Given the description of an element on the screen output the (x, y) to click on. 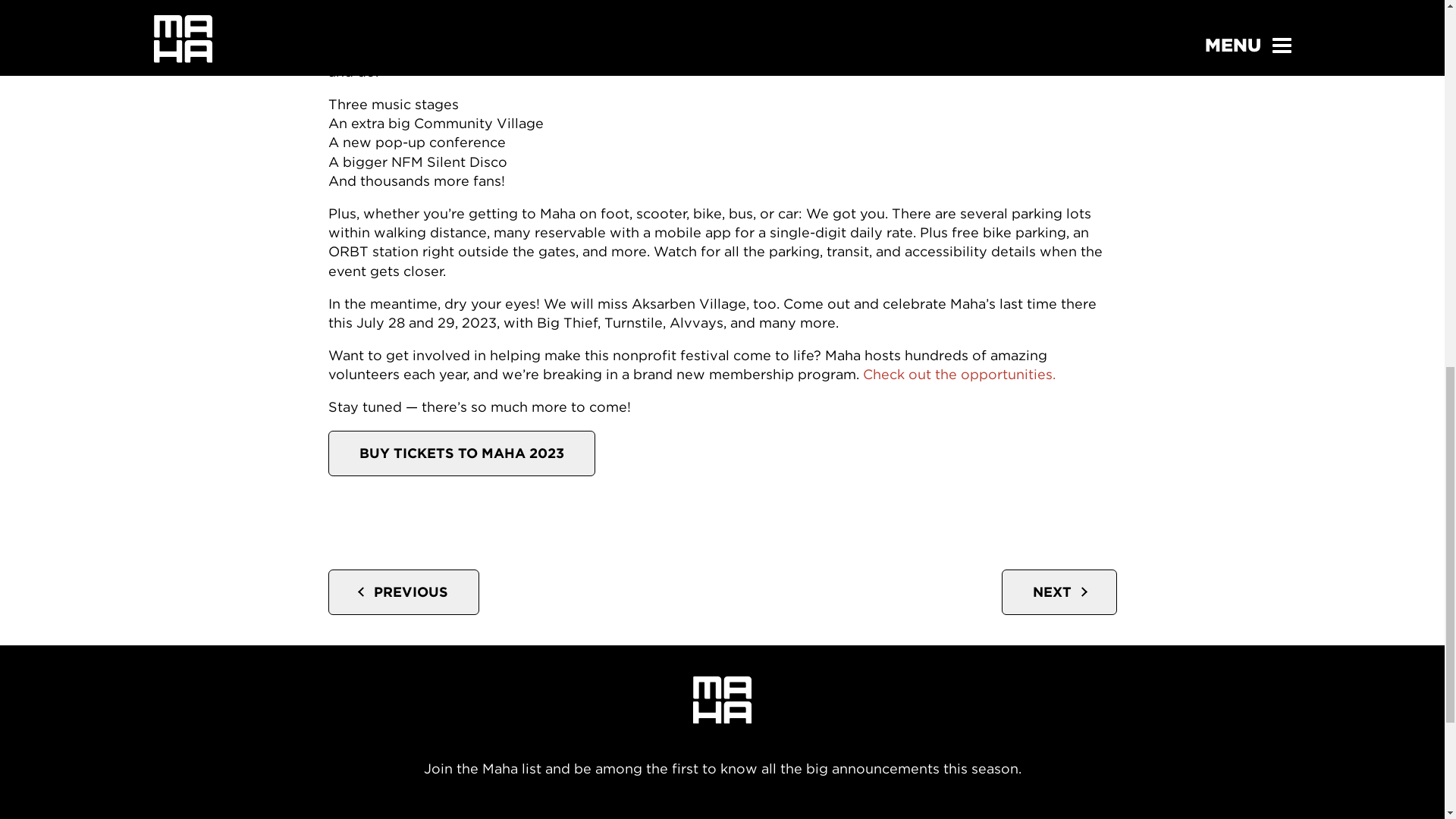
VOLUNTEER (619, 818)
PRESS (1008, 818)
ABOUT (261, 818)
BUY TICKETS TO MAHA 2023 (460, 452)
GET INVOLVED (468, 818)
Check out the opportunities. (959, 374)
NEXT (1058, 592)
Heartland of America Park at The RiverFront (580, 52)
PREVIOUS (403, 592)
